Given the description of an element on the screen output the (x, y) to click on. 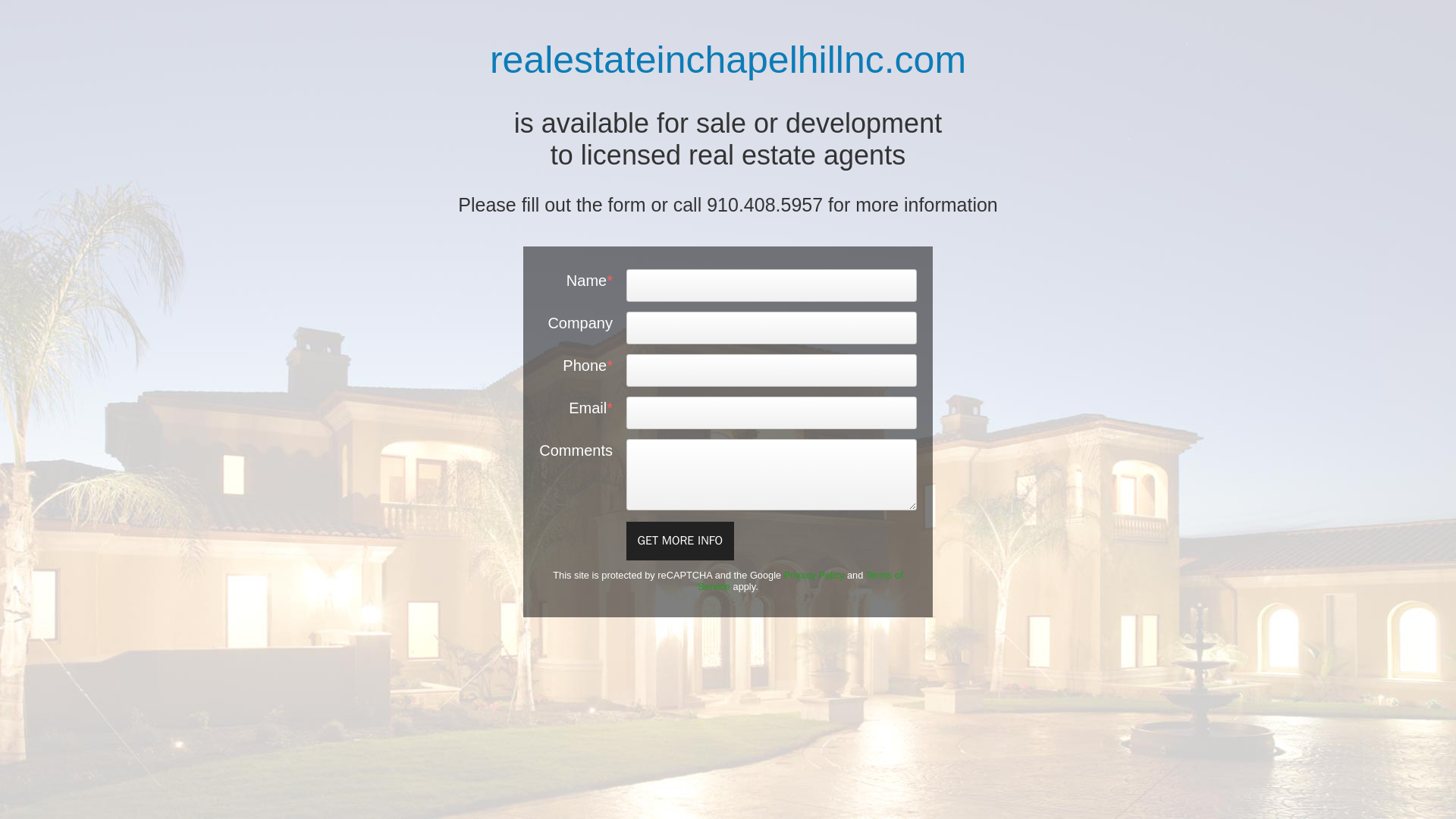
Get More Info (680, 540)
Get More Info (680, 540)
